Given the description of an element on the screen output the (x, y) to click on. 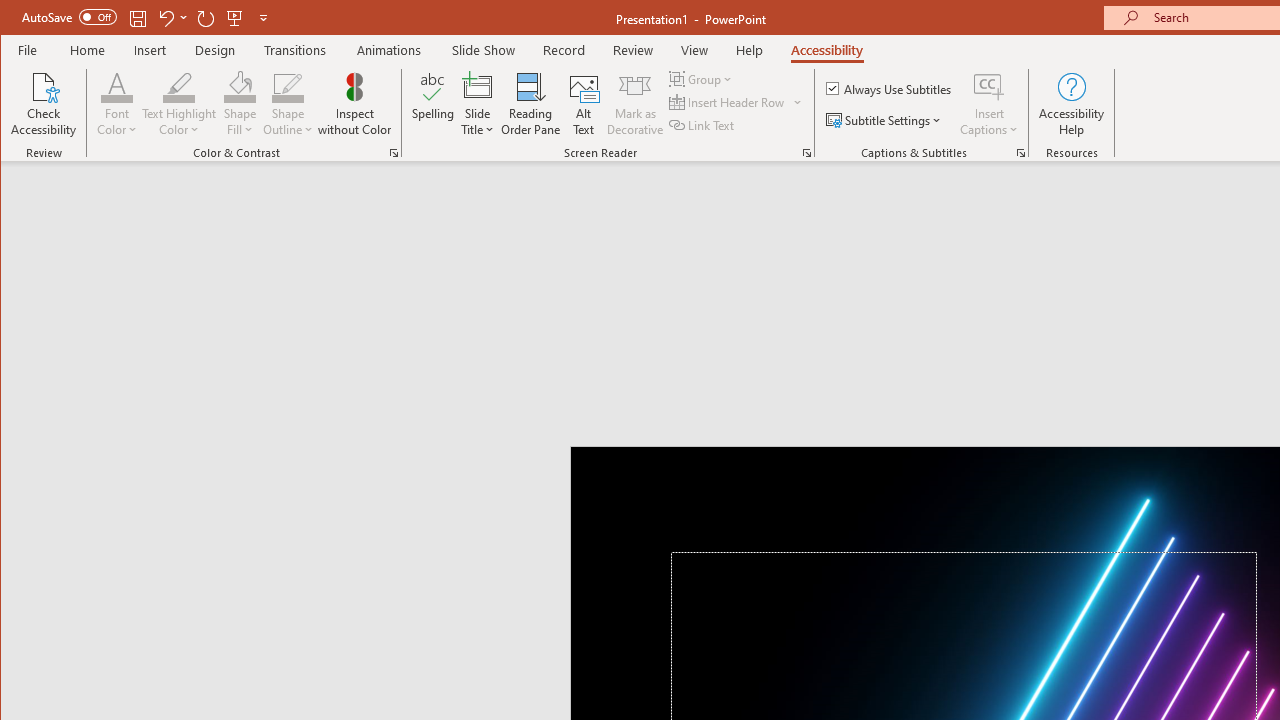
Inspect without Color (355, 104)
Color & Contrast (393, 152)
Link Text (703, 124)
Group (701, 78)
Reading Order Pane (531, 104)
